Given the description of an element on the screen output the (x, y) to click on. 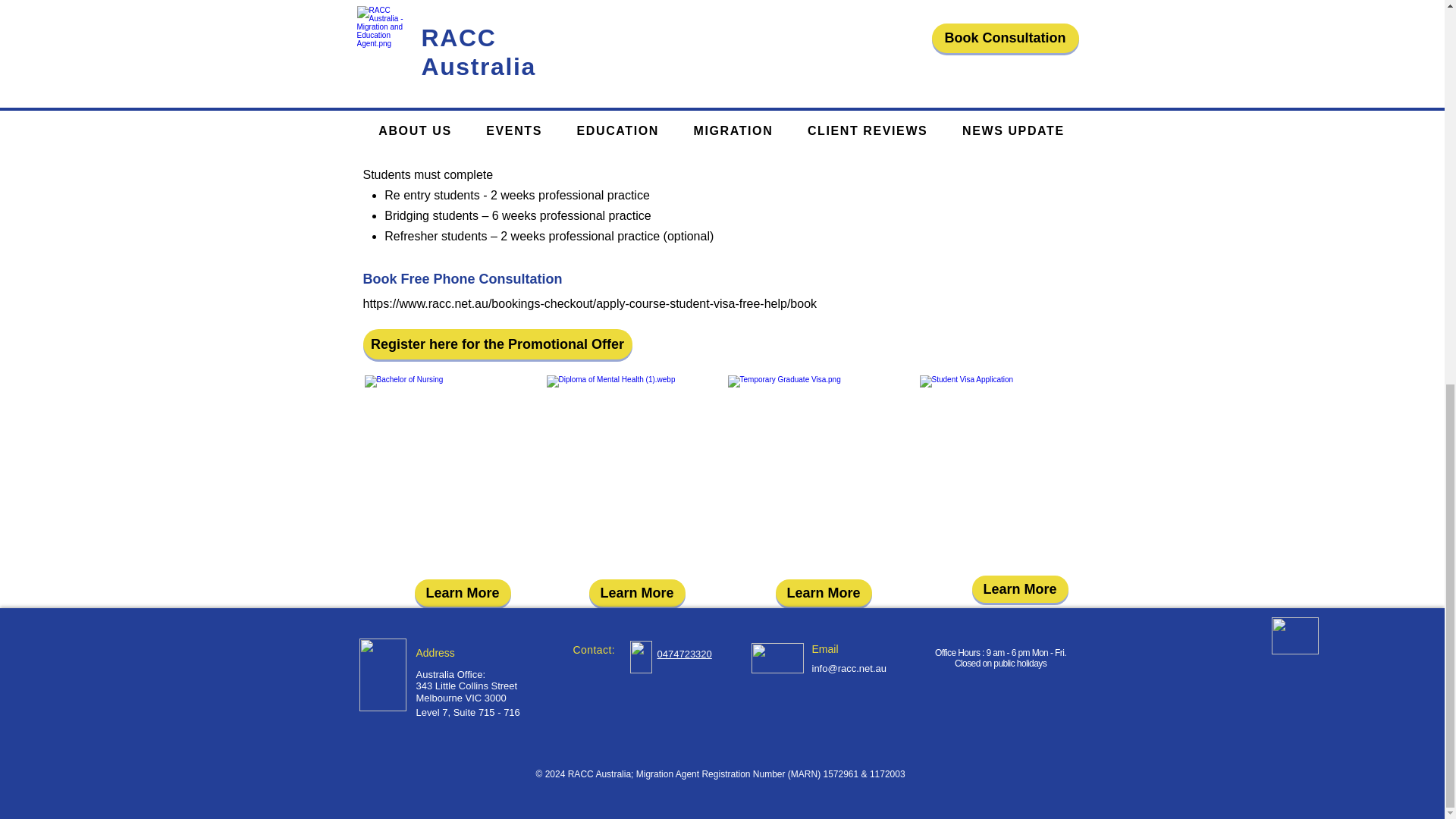
Learn More (462, 592)
Learn More (822, 592)
Register here for the Promotional Offer (496, 344)
Learn More (1020, 588)
Learn More (636, 592)
